Given the description of an element on the screen output the (x, y) to click on. 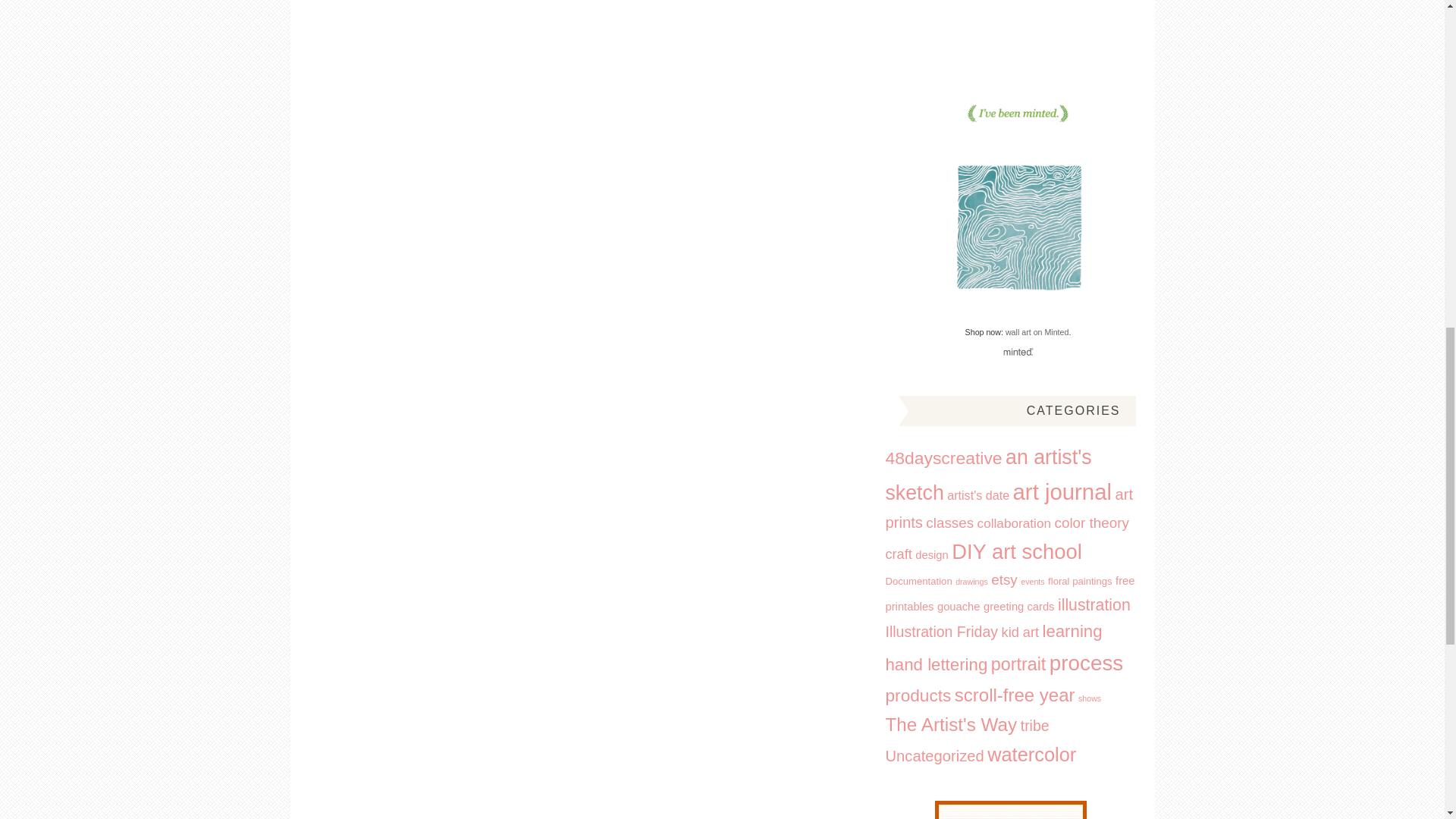
color theory (1091, 522)
artist's date (978, 495)
etsy (1004, 579)
craft (898, 554)
Documentation (918, 581)
collaboration (1013, 522)
classes (950, 522)
art prints (1009, 508)
floral paintings (1080, 581)
DIY art school (1016, 551)
design (931, 554)
an artist's sketch (988, 474)
48dayscreative (944, 457)
wall art on Minted (1037, 331)
events (1031, 581)
